Given the description of an element on the screen output the (x, y) to click on. 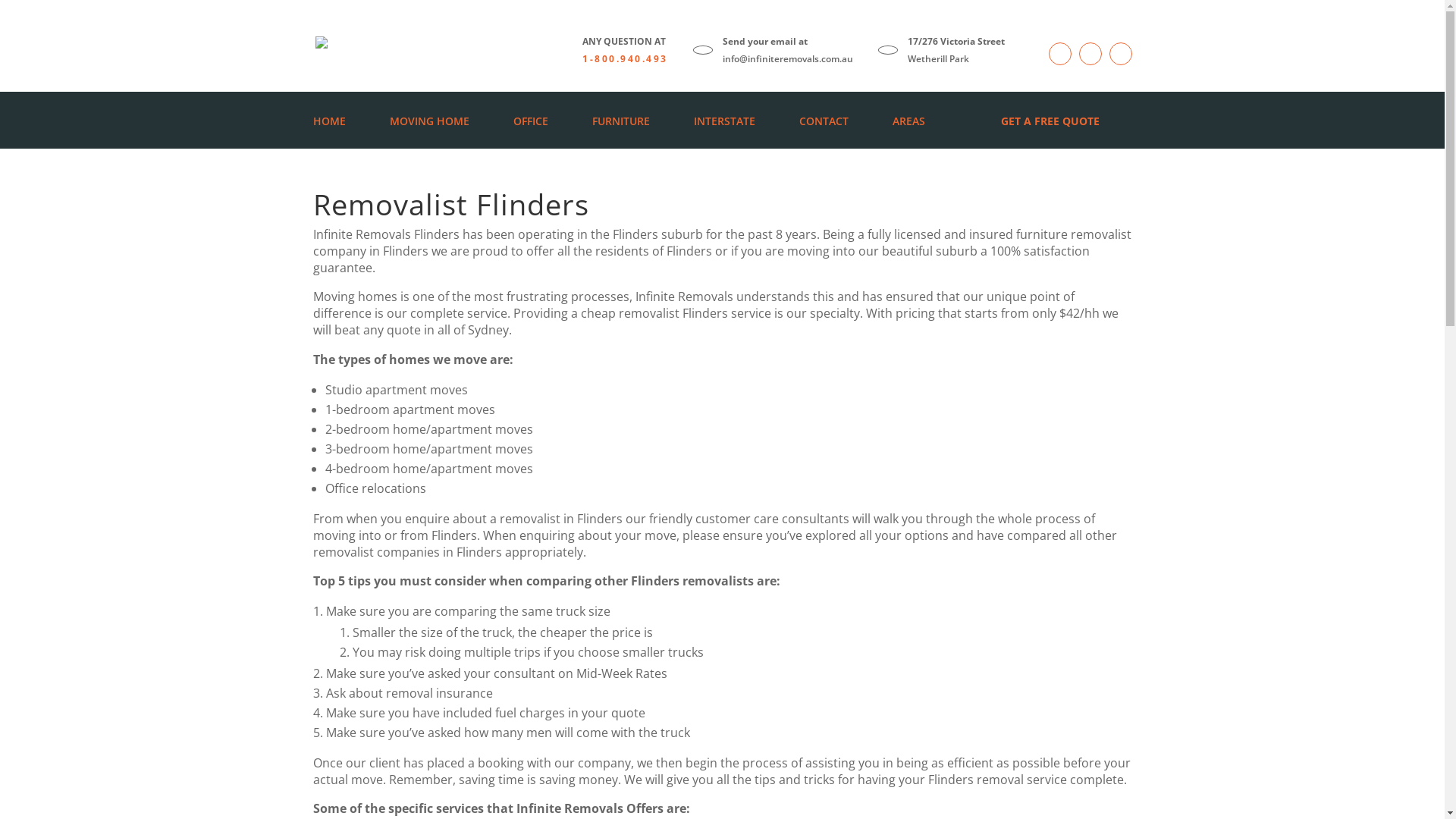
FURNITURE Element type: text (620, 120)
CONTACT Element type: text (823, 120)
MOVING HOME Element type: text (429, 120)
HOME Element type: text (328, 120)
GET A FREE QUOTE Element type: text (1050, 120)
AREAS Element type: text (907, 120)
INTERSTATE Element type: text (723, 120)
OFFICE Element type: text (529, 120)
1-800.940.493 Element type: text (625, 58)
